Given the description of an element on the screen output the (x, y) to click on. 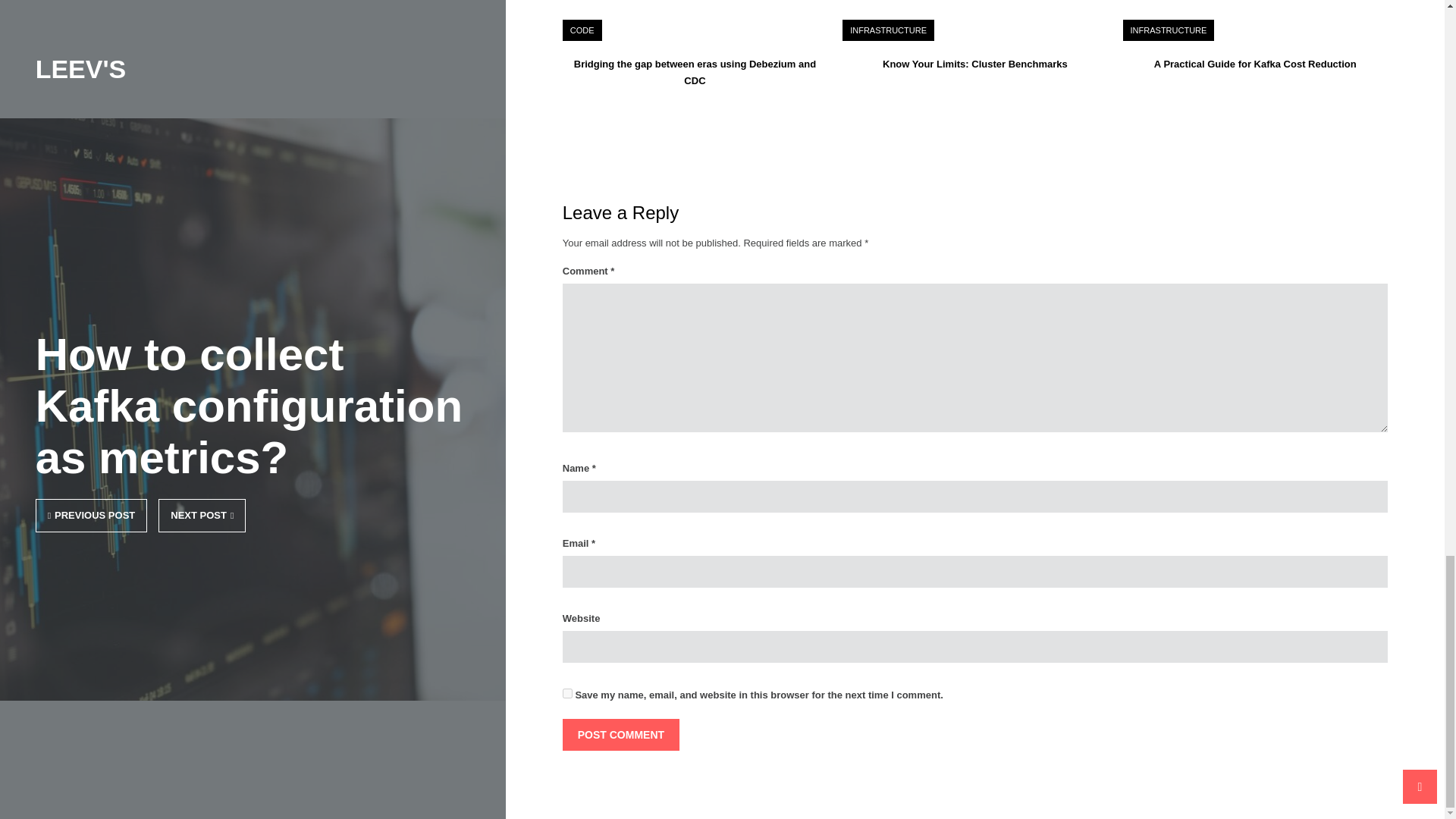
INFRASTRUCTURE (1169, 30)
Post Comment (620, 735)
Bridging the gap between eras using Debezium and CDC (694, 72)
INFRASTRUCTURE (888, 30)
yes (567, 693)
Know Your Limits: Cluster Benchmarks (974, 63)
CODE (582, 30)
